Given the description of an element on the screen output the (x, y) to click on. 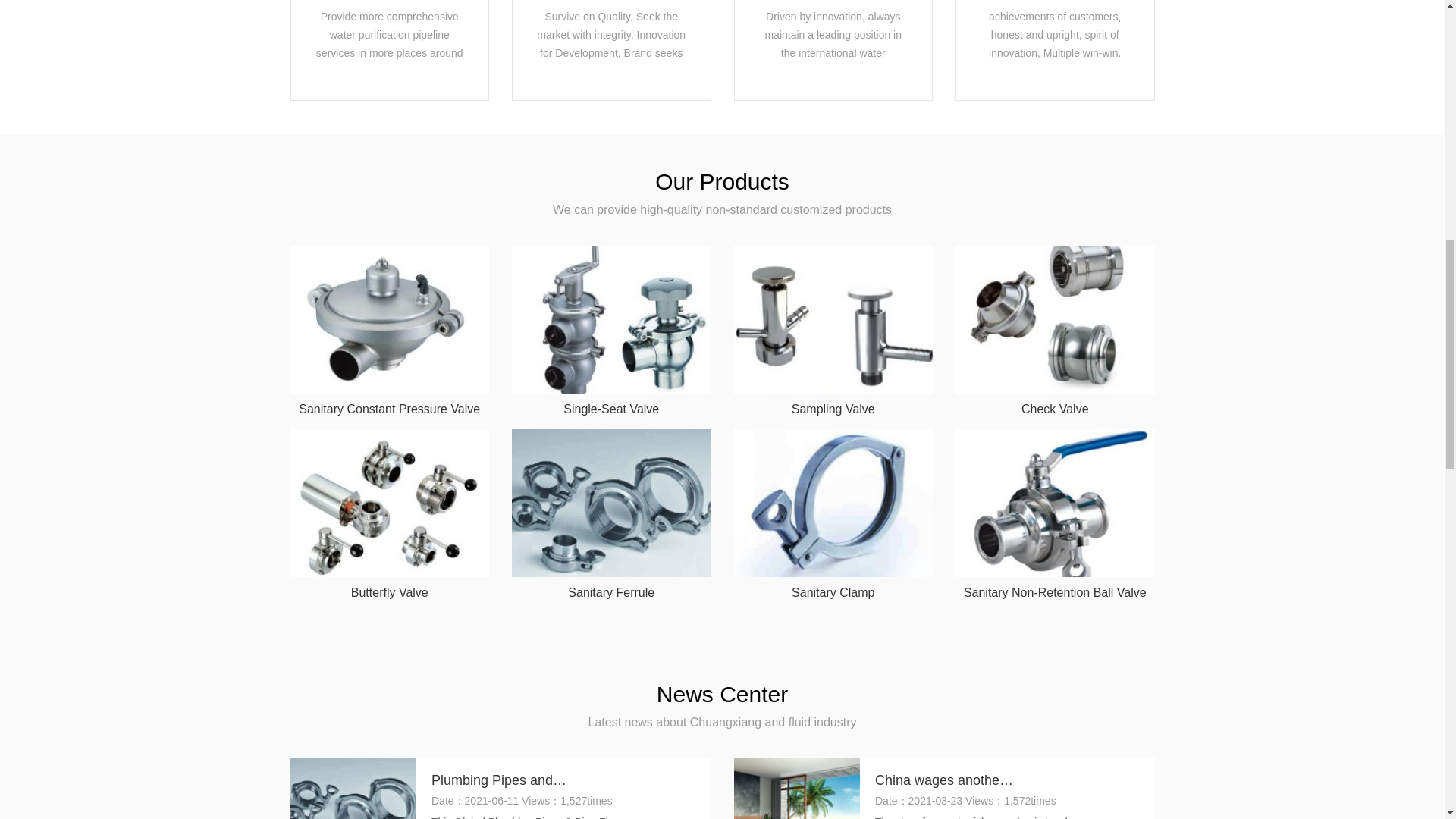
Sanitary Clamp (833, 515)
Core Value (1054, 31)
Sanitary Constant Pressure Valve (389, 331)
Sanitary Constant Pressure Valve (389, 331)
Corporate Purposes (389, 31)
Sanitary Non-Retention Ball Valve (1054, 515)
Sanitary Ferrule (611, 515)
Check Valve (1054, 331)
Sampling Valve (833, 331)
